Given the description of an element on the screen output the (x, y) to click on. 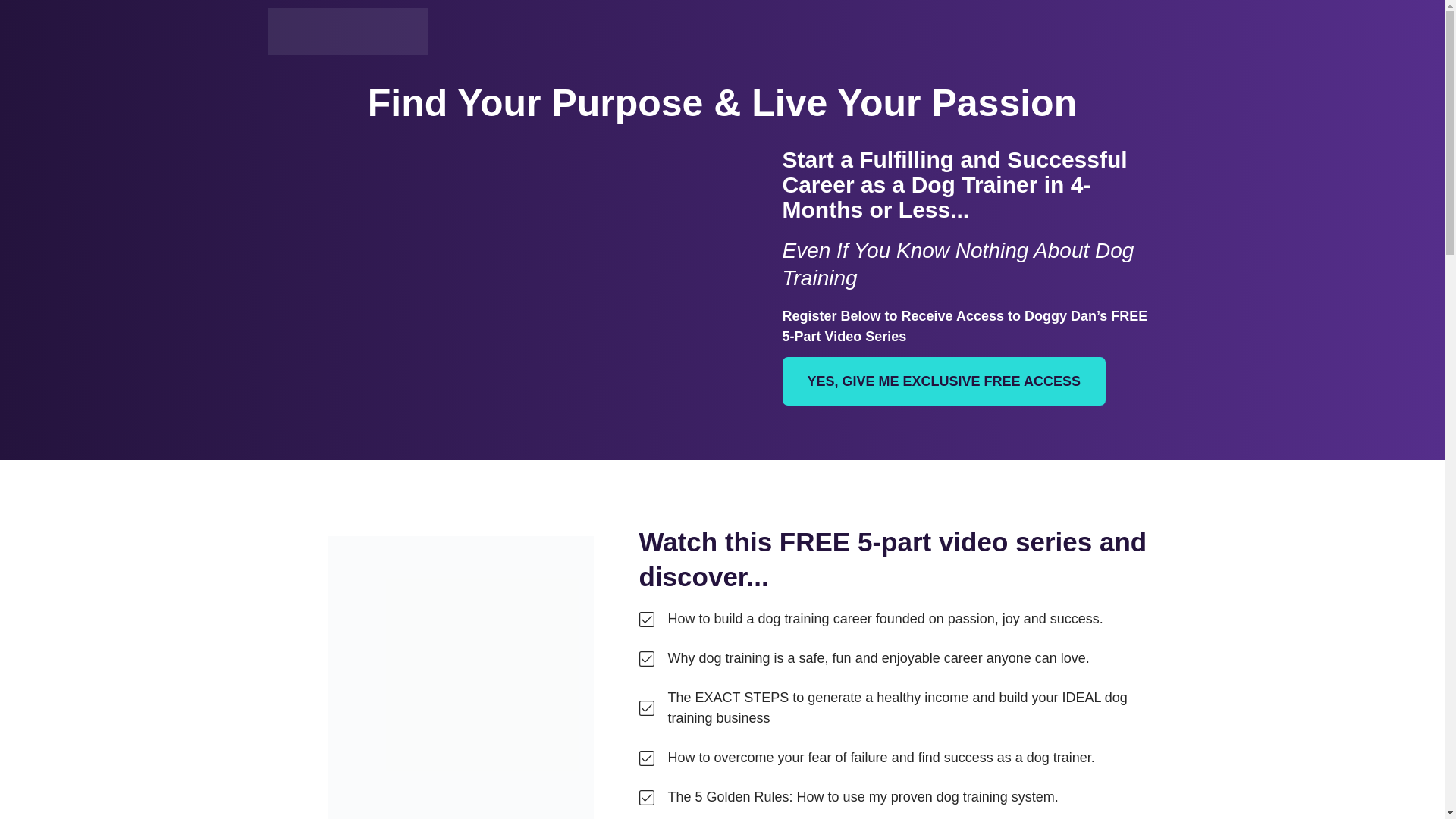
YES, GIVE ME EXCLUSIVE FREE ACCESS (944, 381)
Gumlet video player (520, 280)
